Given the description of an element on the screen output the (x, y) to click on. 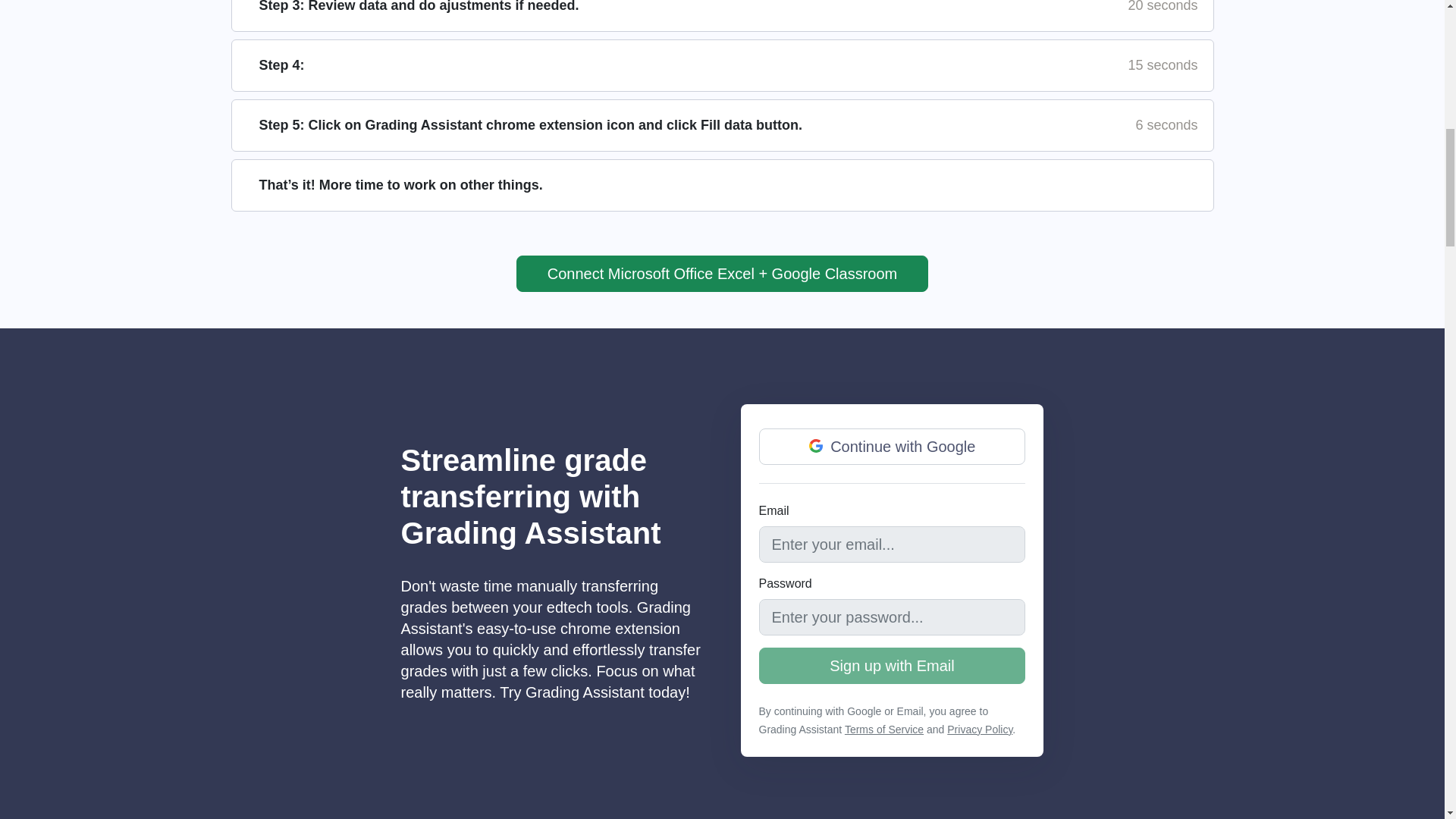
Terms of Service (883, 729)
Continue with Google (815, 445)
Privacy Policy (979, 729)
Continue with Google (891, 446)
Sign up with Email (891, 665)
